Given the description of an element on the screen output the (x, y) to click on. 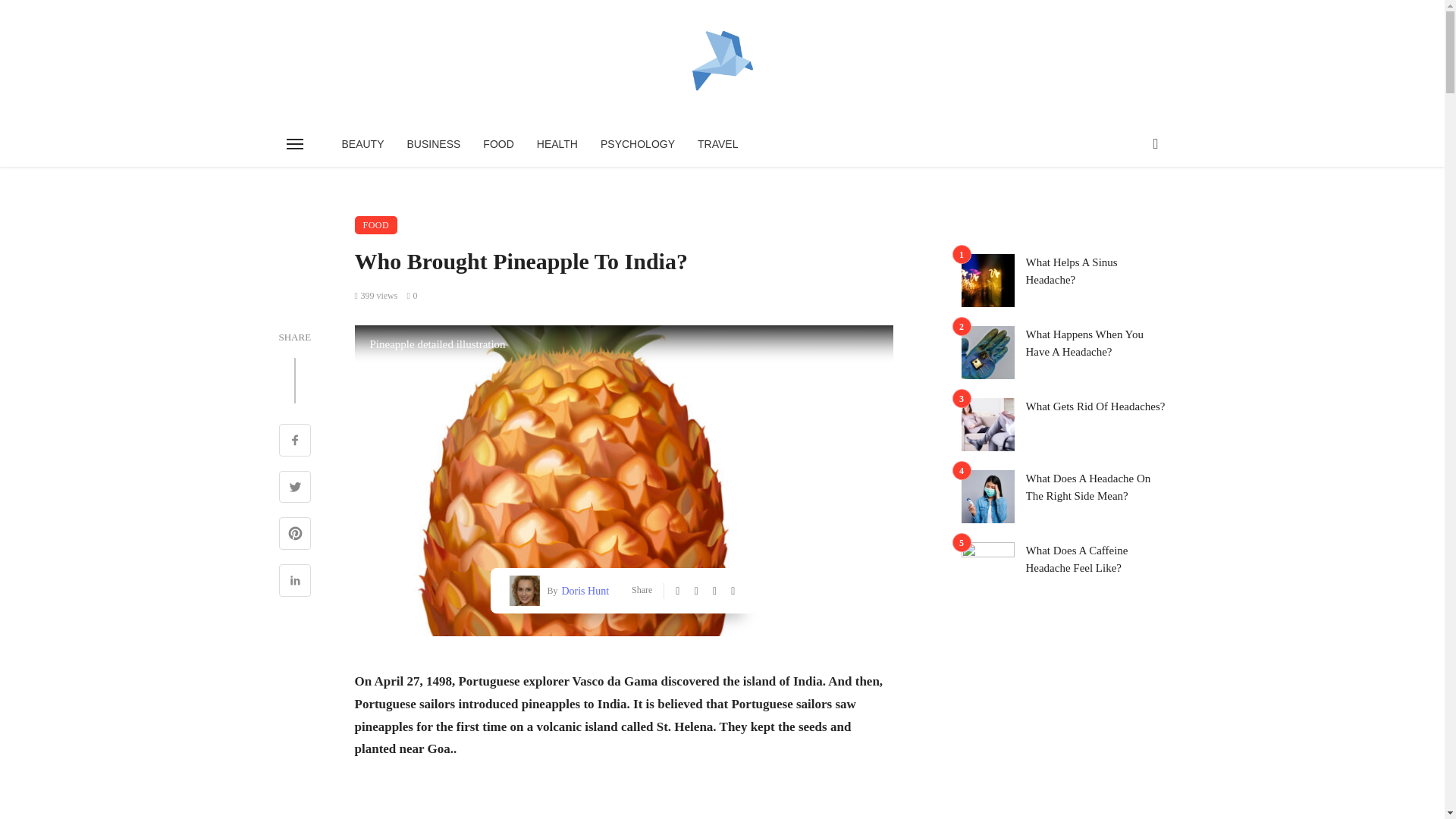
Doris Hunt (582, 590)
Share on Pinterest (295, 534)
Share on Twitter (295, 488)
HEALTH (557, 144)
TRAVEL (717, 144)
Share on Linkedin (295, 582)
FOOD (376, 225)
BEAUTY (363, 144)
0 Comments (411, 295)
Posts by Doris Hunt (582, 590)
